Given the description of an element on the screen output the (x, y) to click on. 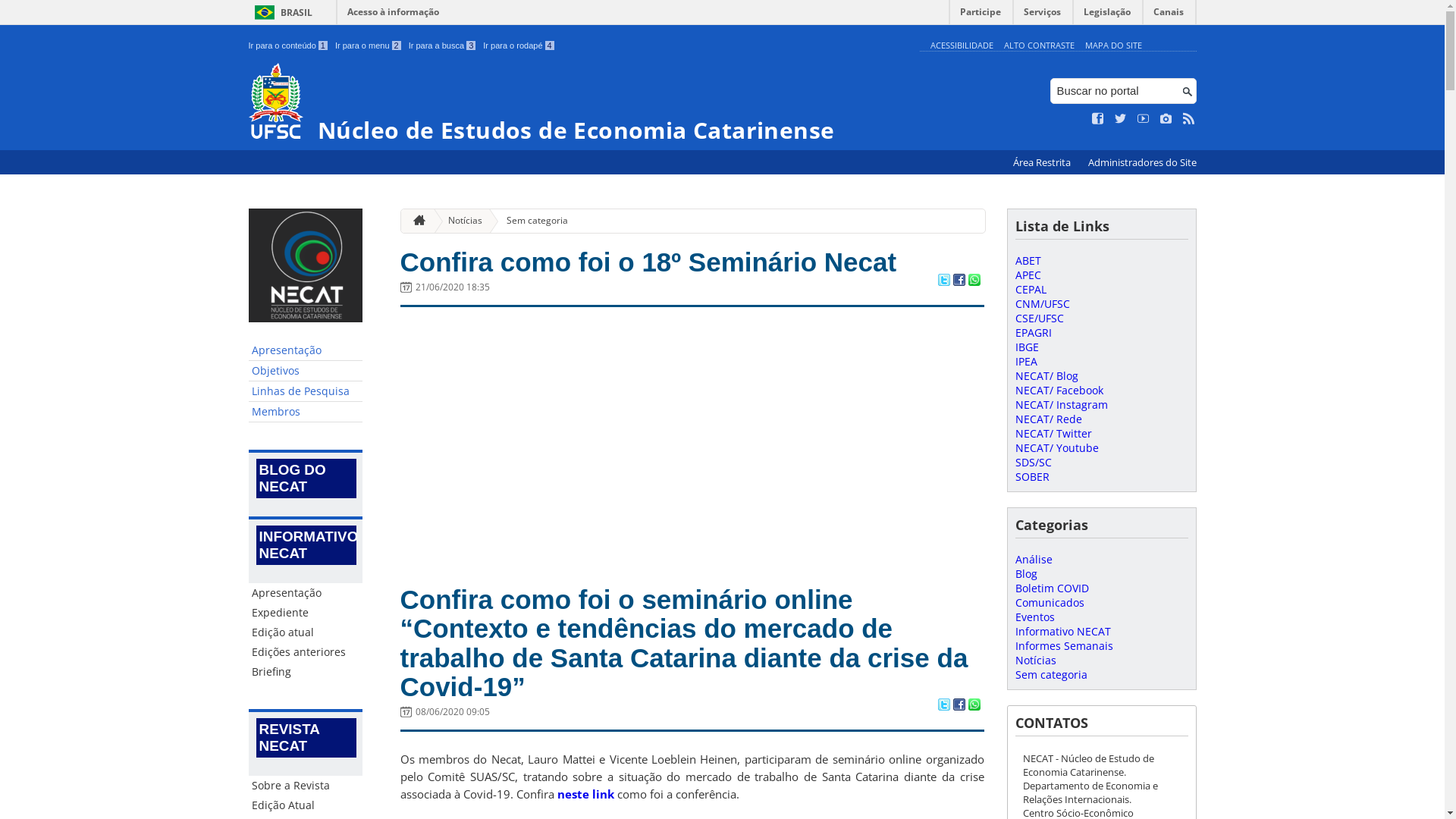
NECAT/ Twitter Element type: text (1052, 433)
CNM/UFSC Element type: text (1041, 303)
Sem categoria Element type: text (1050, 674)
IBGE Element type: text (1026, 346)
Linhas de Pesquisa Element type: text (305, 391)
Compartilhar no Twitter Element type: hover (943, 280)
NECAT/ Facebook Element type: text (1058, 389)
Ir para o menu 2 Element type: text (368, 45)
IPEA Element type: text (1025, 361)
Membros Element type: text (305, 411)
SOBER Element type: text (1031, 476)
Administradores do Site Element type: text (1141, 162)
SDS/SC Element type: text (1032, 462)
Informativo NECAT Element type: text (1062, 631)
ABET Element type: text (1027, 260)
ALTO CONTRASTE Element type: text (1039, 44)
Compartilhar no WhatsApp Element type: hover (973, 280)
neste link Element type: text (584, 793)
Veja no Instagram Element type: hover (1166, 118)
Compartilhar no WhatsApp Element type: hover (973, 705)
Canais Element type: text (1169, 15)
Objetivos Element type: text (305, 370)
Ir para a busca 3 Element type: text (442, 45)
Sem categoria Element type: text (531, 220)
Siga no Twitter Element type: hover (1120, 118)
BLOG DO NECAT Element type: text (306, 478)
Expediente Element type: text (305, 612)
Compartilhar no Facebook Element type: hover (958, 280)
Briefing Element type: text (305, 671)
Participe Element type: text (980, 15)
Curta no Facebook Element type: hover (1098, 118)
Informes Semanais Element type: text (1063, 645)
Boletim COVID Element type: text (1051, 587)
ACESSIBILIDADE Element type: text (960, 44)
NECAT/ Blog Element type: text (1045, 375)
NECAT/ Youtube Element type: text (1056, 447)
NECAT/ Instagram Element type: text (1060, 404)
MAPA DO SITE Element type: text (1112, 44)
Compartilhar no Facebook Element type: hover (958, 705)
APEC Element type: text (1027, 274)
CSE/UFSC Element type: text (1038, 317)
Blog Element type: text (1025, 573)
CEPAL Element type: text (1029, 289)
EPAGRI Element type: text (1032, 332)
INFORMATIVO NECAT Element type: text (306, 544)
Sobre a Revista Element type: text (305, 785)
REVISTA NECAT Element type: text (306, 737)
Eventos Element type: text (1034, 616)
NECAT/ Rede Element type: text (1047, 418)
BRASIL Element type: text (280, 12)
Comunicados Element type: text (1048, 602)
Compartilhar no Twitter Element type: hover (943, 705)
